Given the description of an element on the screen output the (x, y) to click on. 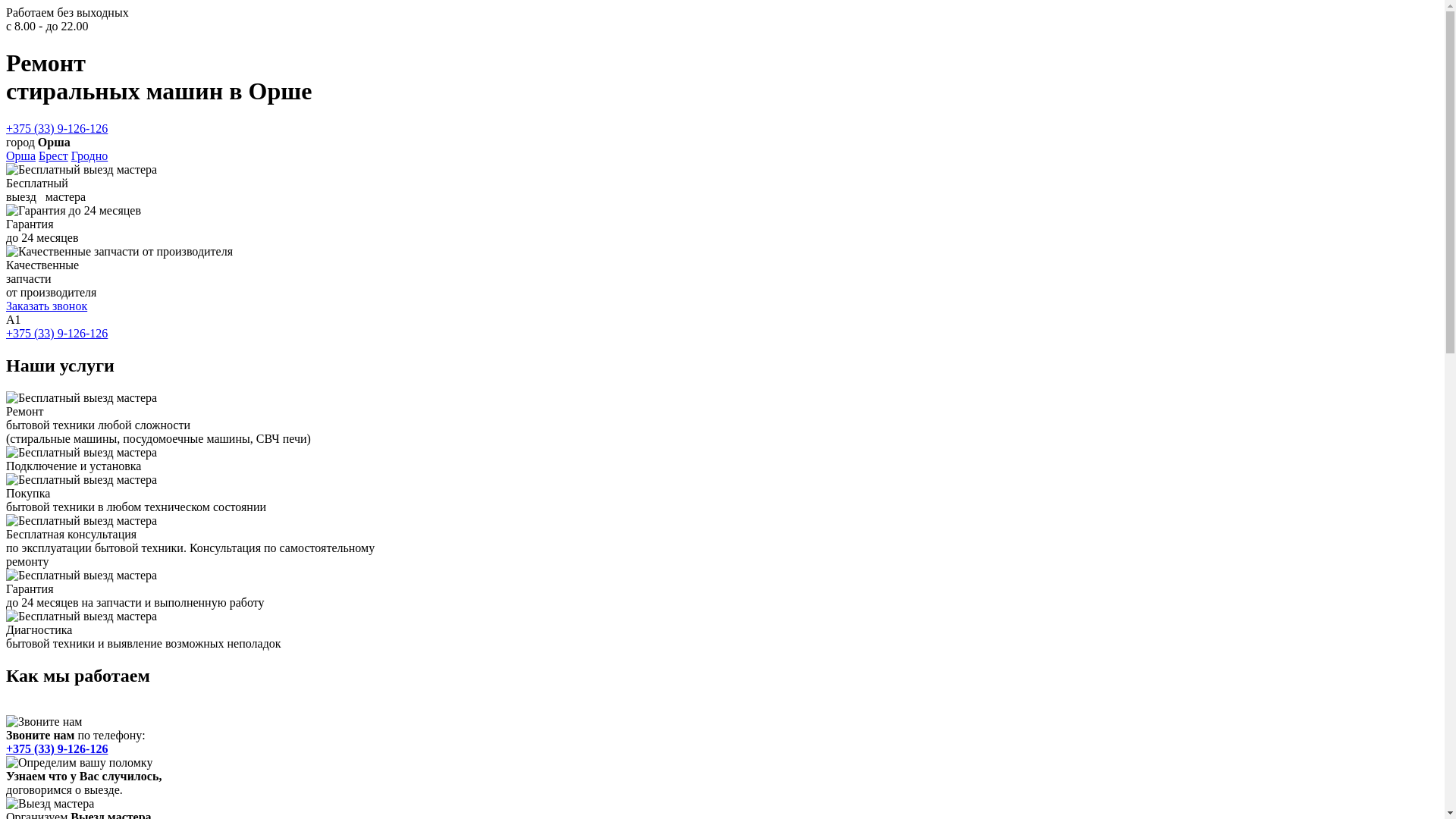
+375 (33) 9-126-126 Element type: text (56, 747)
+375 (33) 9-126-126 Element type: text (56, 332)
+375 (33) 9-126-126 Element type: text (56, 128)
